Given the description of an element on the screen output the (x, y) to click on. 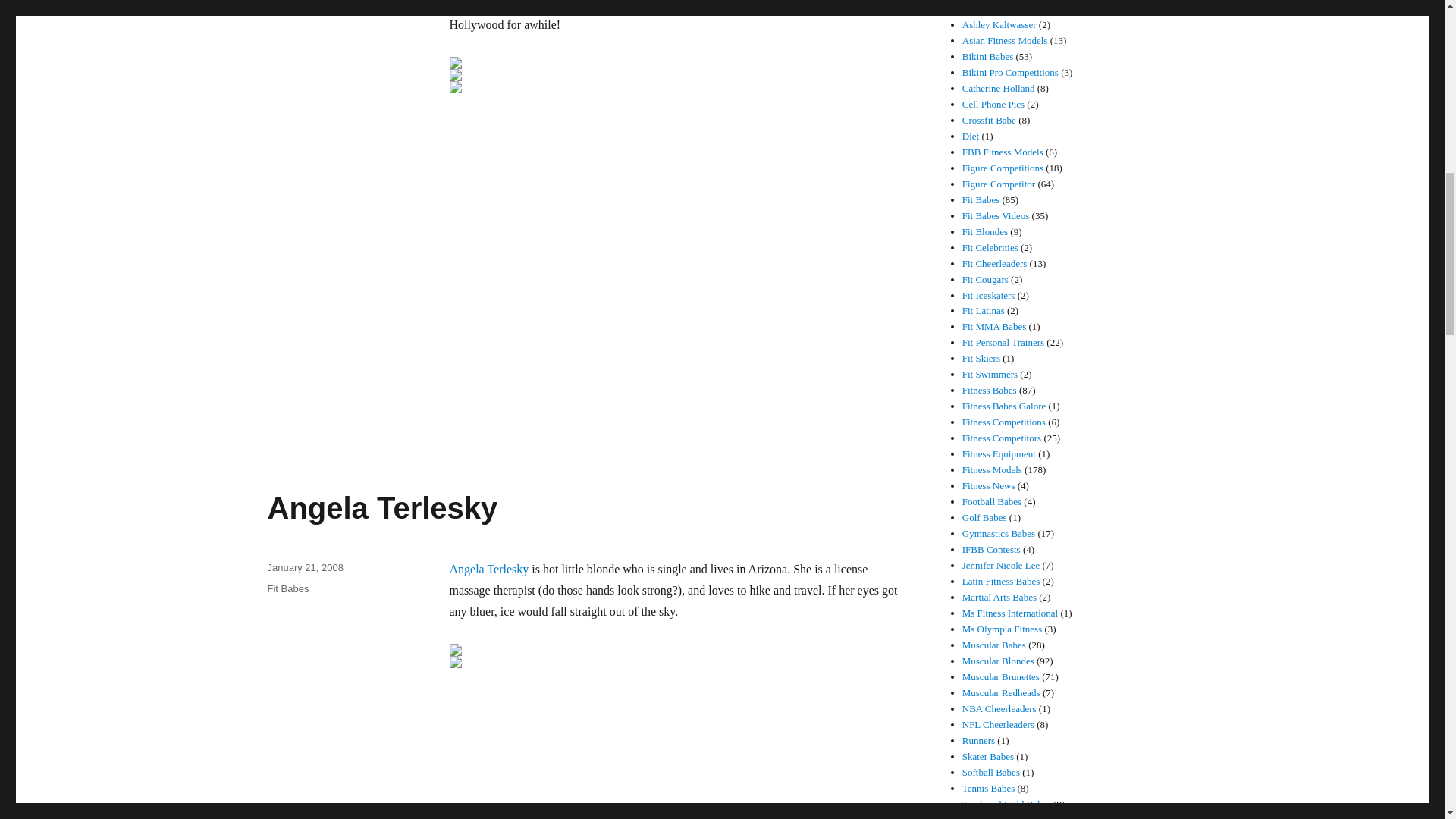
Angela Terlesky (488, 568)
Muscular Blondes (305, 3)
Angela Terlesky (381, 507)
January 21, 2008 (304, 567)
Fit Babes (287, 588)
